Given the description of an element on the screen output the (x, y) to click on. 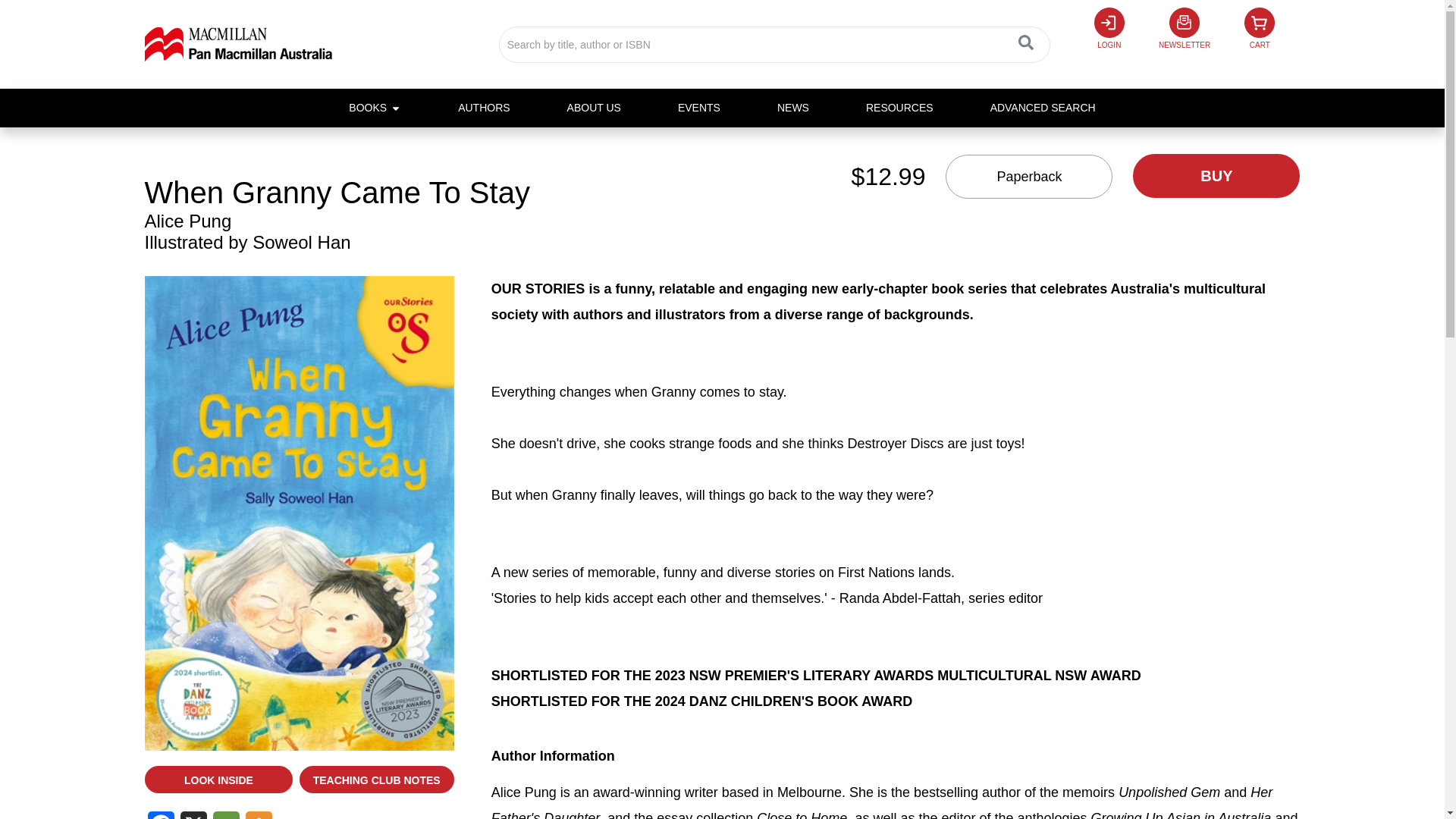
More (259, 815)
LOGIN (1109, 40)
Search (774, 43)
BOOKS (368, 107)
Email (225, 815)
pan-macmillan-australia 2 (237, 43)
Facebook (160, 815)
X (193, 815)
